Given the description of an element on the screen output the (x, y) to click on. 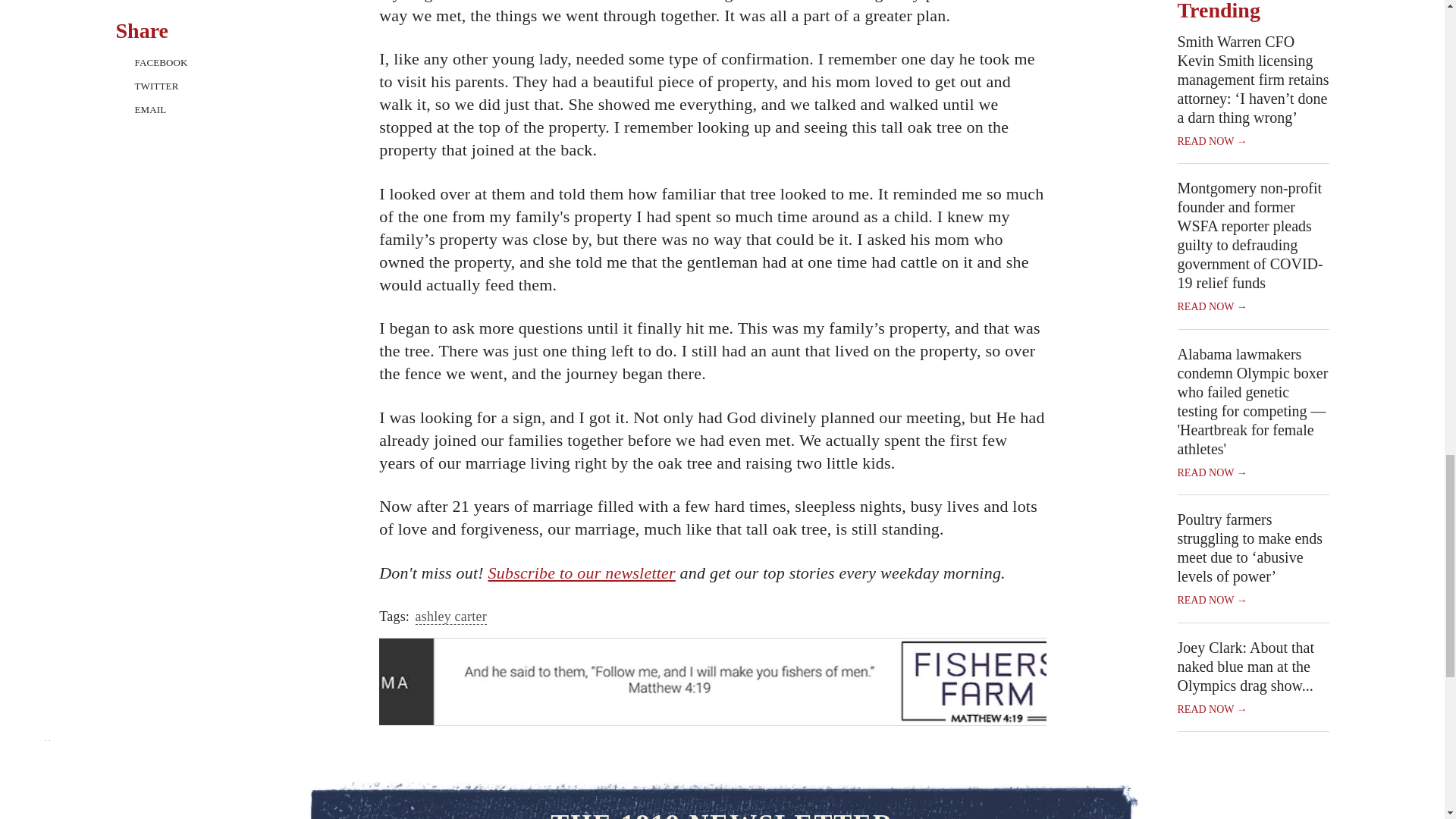
Fishers Farm730 (712, 665)
